Given the description of an element on the screen output the (x, y) to click on. 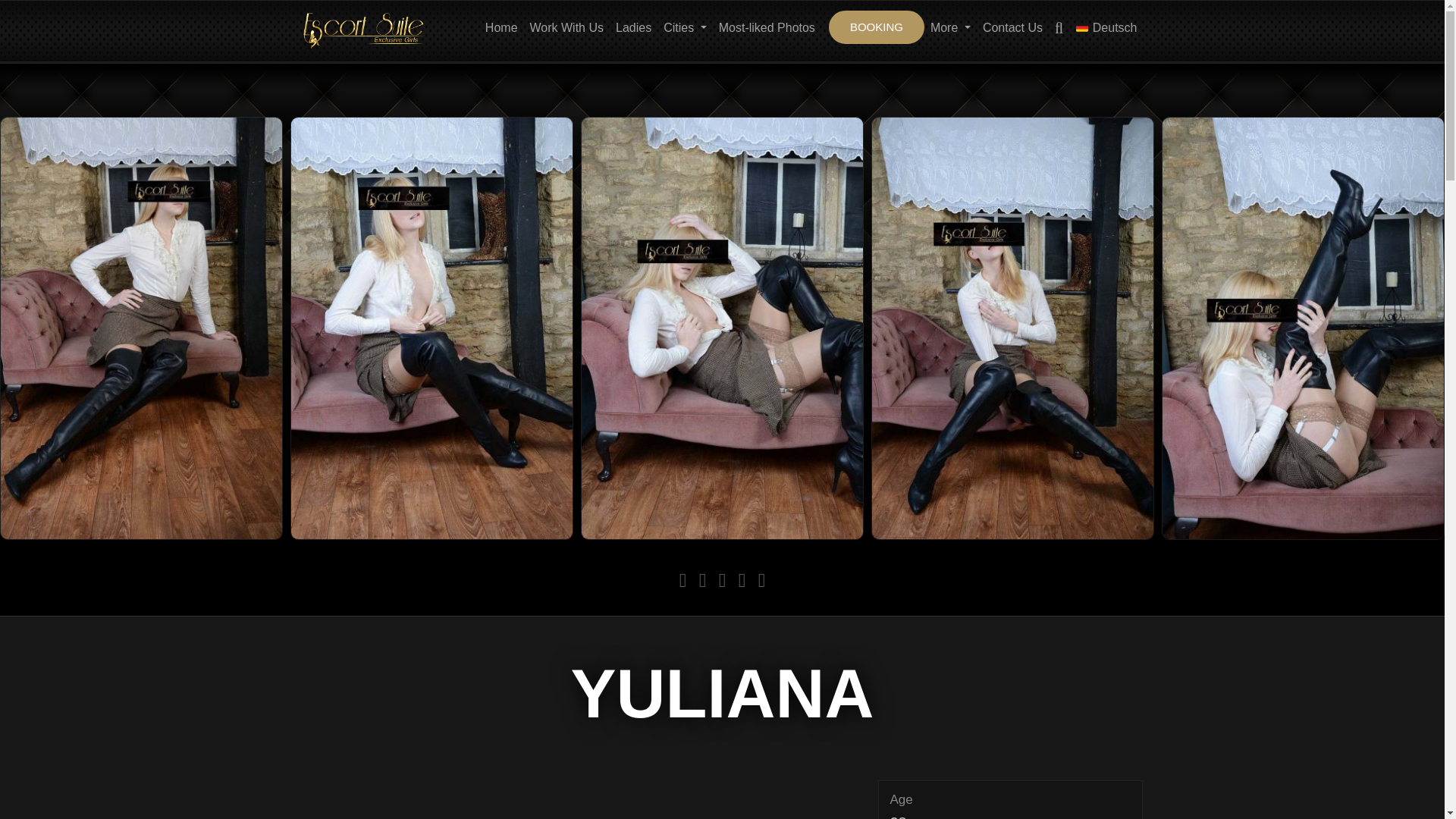
Home (501, 27)
Ladies (632, 27)
Work With Us (566, 27)
Cities (684, 27)
Cities (684, 27)
Ladies (632, 27)
Home (501, 27)
Work With Us (566, 27)
